Given the description of an element on the screen output the (x, y) to click on. 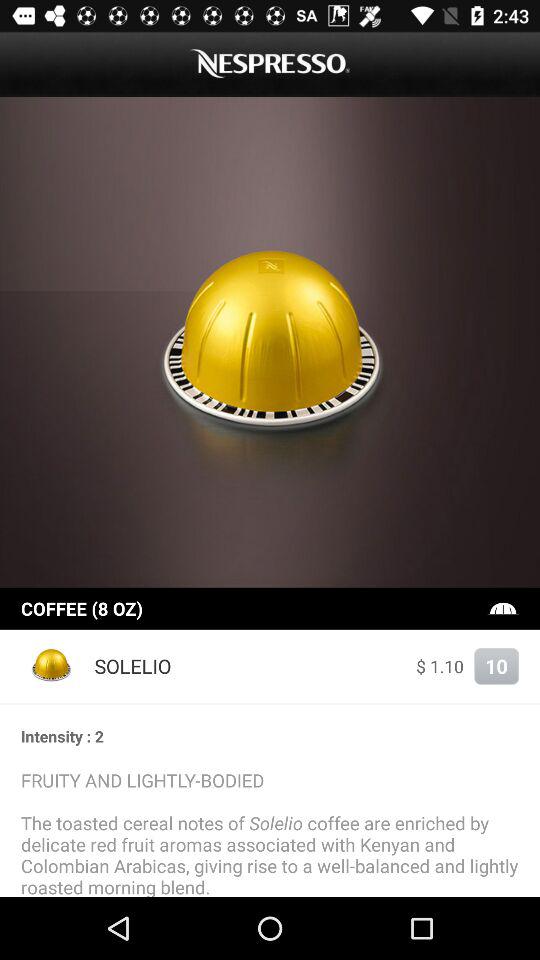
press fruity and lightly item (270, 832)
